Given the description of an element on the screen output the (x, y) to click on. 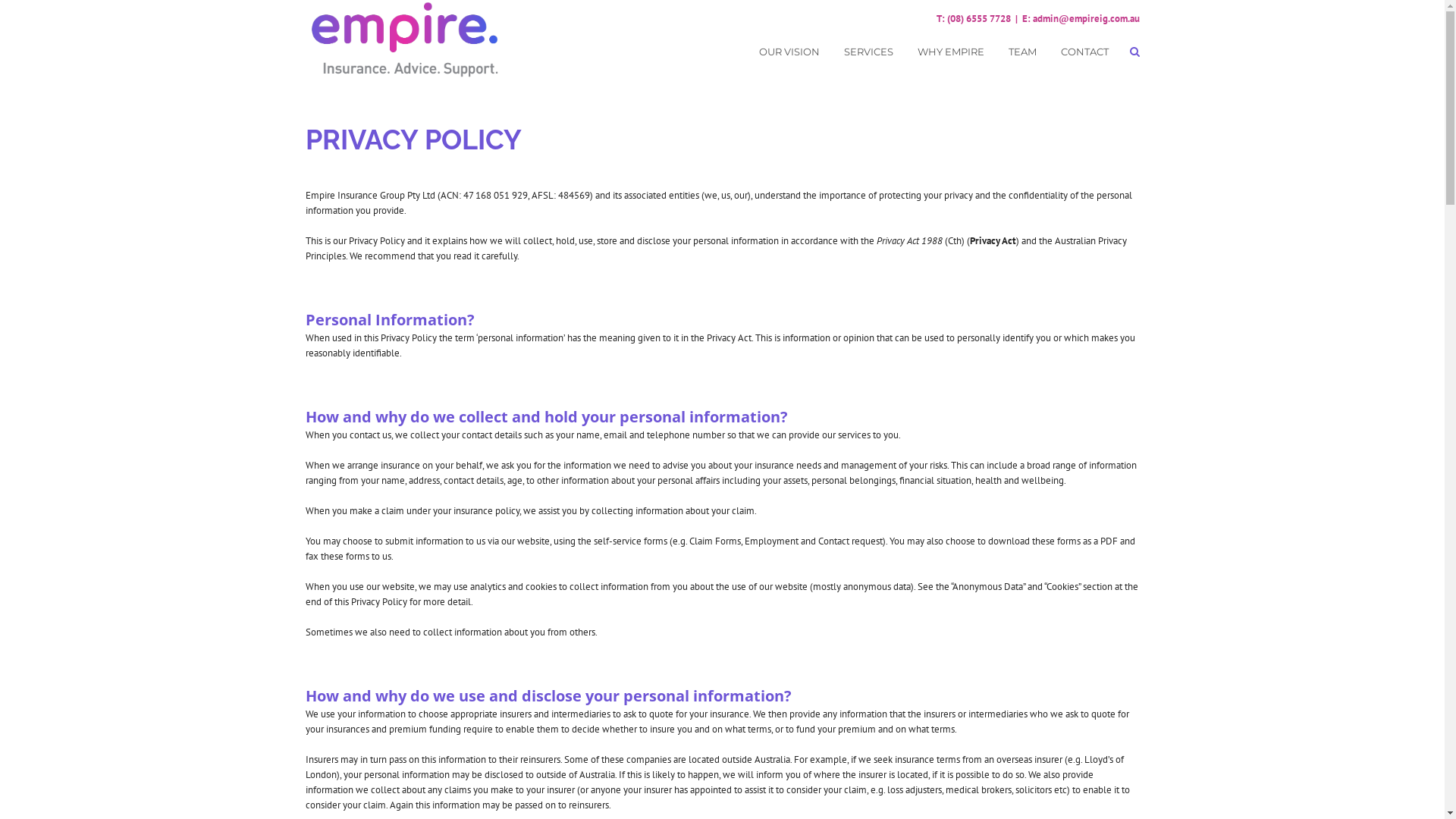
WHY EMPIRE Element type: text (950, 52)
CONTACT Element type: text (1083, 52)
TEAM Element type: text (1022, 52)
SERVICES Element type: text (867, 52)
OUR VISION Element type: text (788, 52)
